Given the description of an element on the screen output the (x, y) to click on. 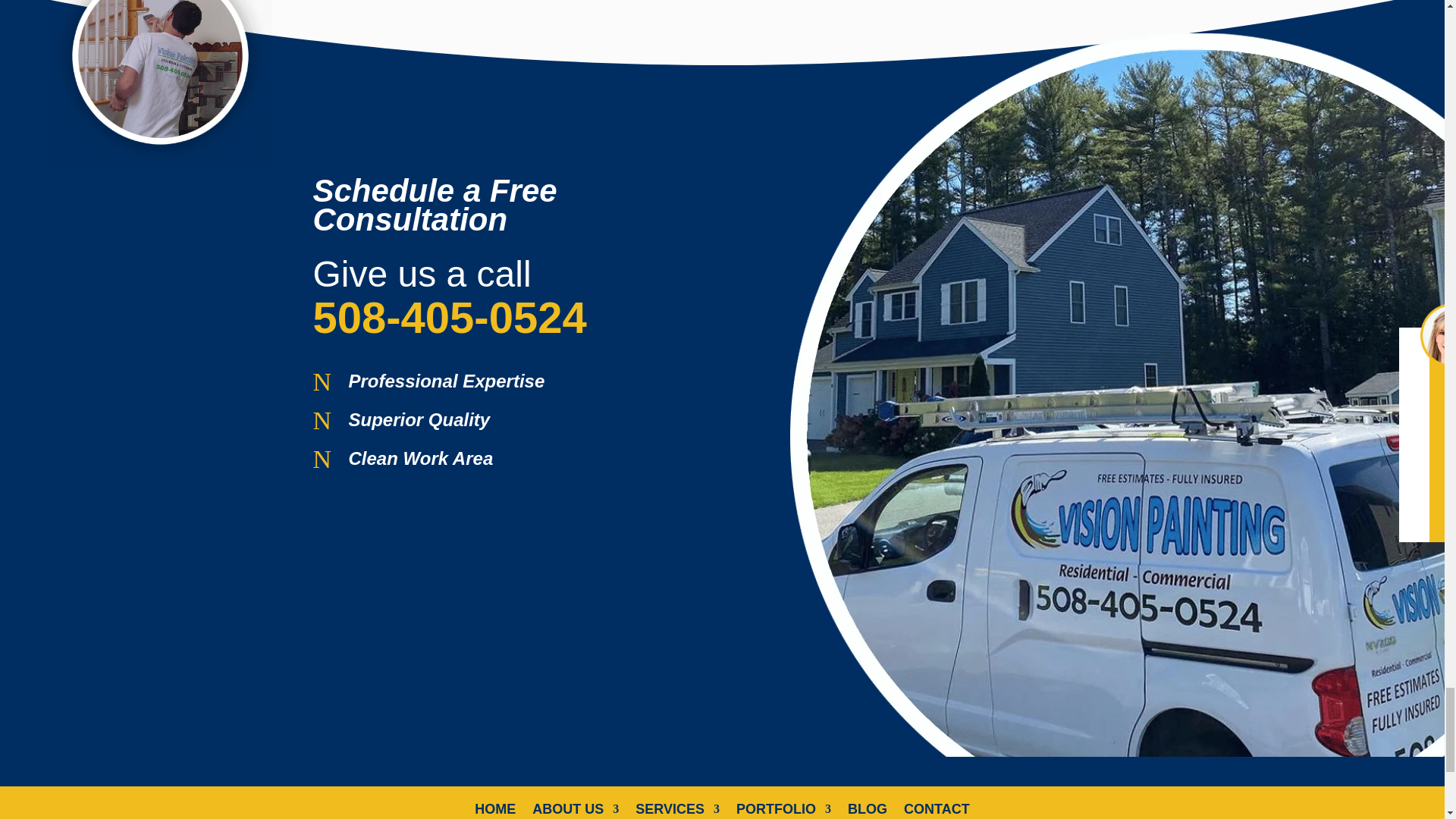
HOME (494, 811)
vision123 (160, 84)
ABOUT US (575, 811)
